Given the description of an element on the screen output the (x, y) to click on. 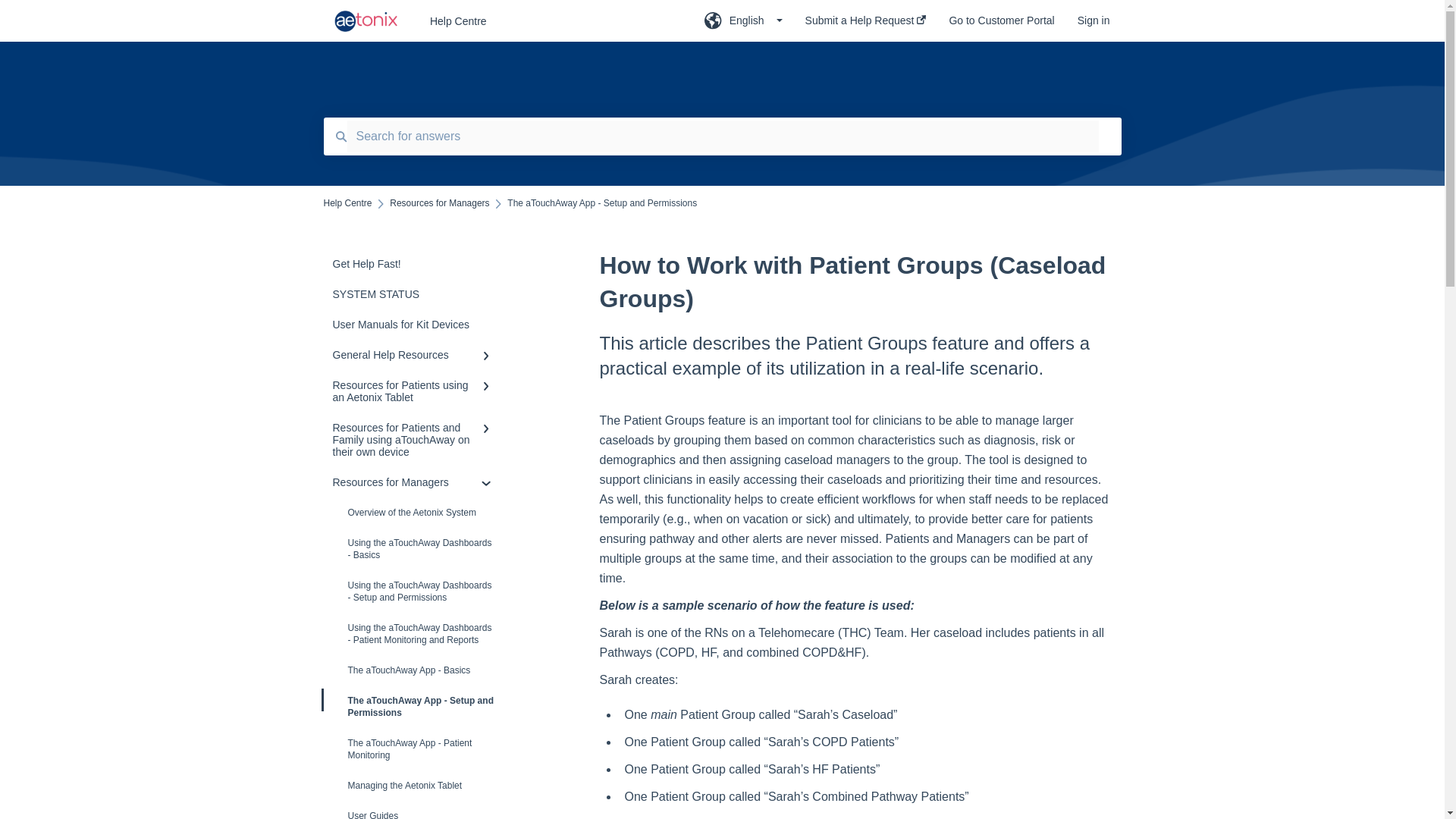
Help Centre (544, 21)
Submit a Help Request (865, 25)
English (743, 25)
Go to Customer Portal (1001, 25)
